Given the description of an element on the screen output the (x, y) to click on. 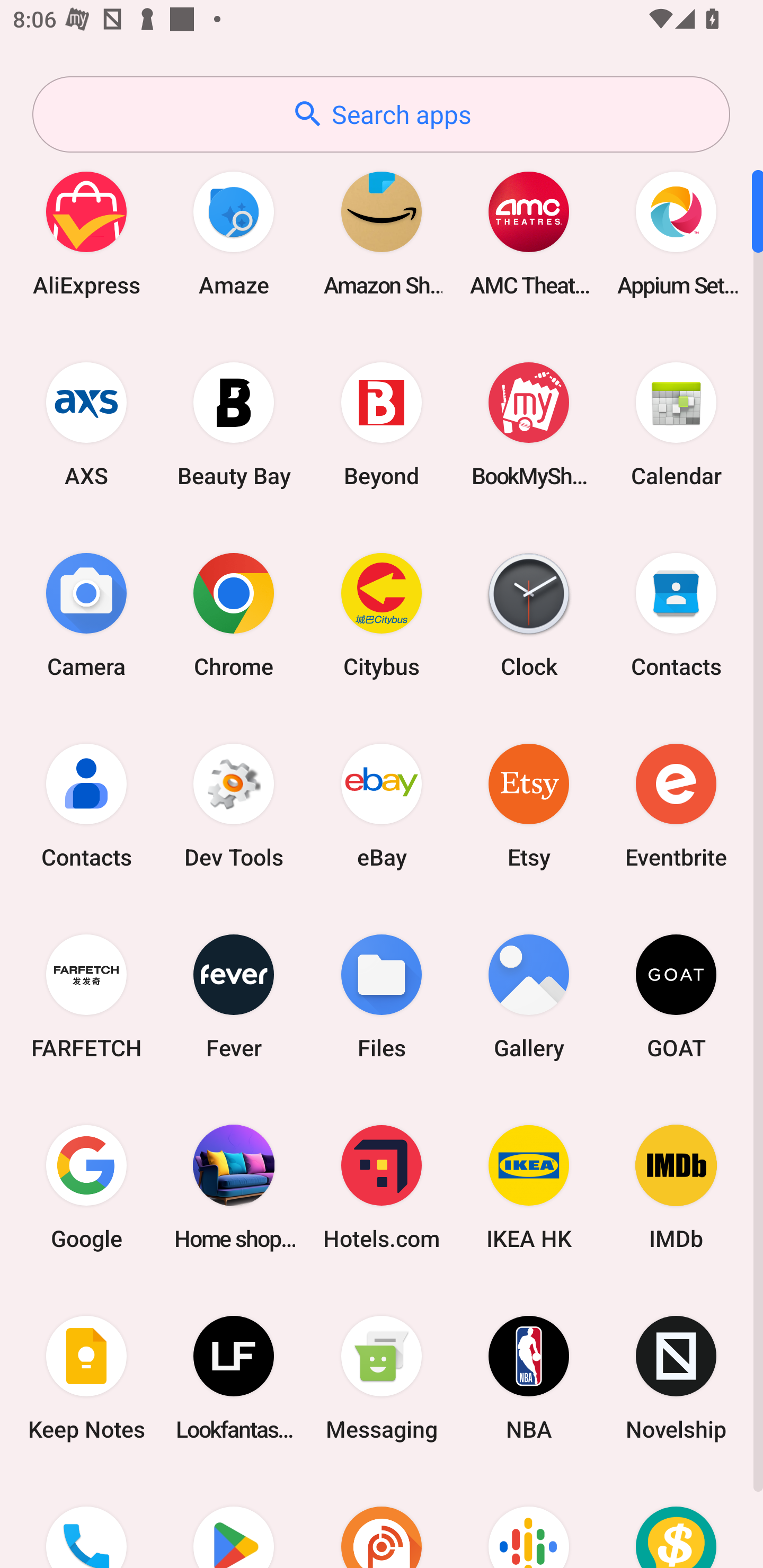
  Search apps (381, 114)
AliExpress (86, 233)
Amaze (233, 233)
Amazon Shopping (381, 233)
AMC Theatres (528, 233)
Appium Settings (676, 233)
AXS (86, 424)
Beauty Bay (233, 424)
Beyond (381, 424)
BookMyShow (528, 424)
Calendar (676, 424)
Camera (86, 614)
Chrome (233, 614)
Citybus (381, 614)
Clock (528, 614)
Contacts (676, 614)
Contacts (86, 805)
Dev Tools (233, 805)
eBay (381, 805)
Etsy (528, 805)
Eventbrite (676, 805)
FARFETCH (86, 996)
Fever (233, 996)
Files (381, 996)
Gallery (528, 996)
GOAT (676, 996)
Google (86, 1186)
Home shopping (233, 1186)
Hotels.com (381, 1186)
IKEA HK (528, 1186)
IMDb (676, 1186)
Keep Notes (86, 1377)
Lookfantastic (233, 1377)
Messaging (381, 1377)
NBA (528, 1377)
Novelship (676, 1377)
Phone (86, 1520)
Play Store (233, 1520)
Podcast Addict (381, 1520)
Podcasts (528, 1520)
Price (676, 1520)
